Given the description of an element on the screen output the (x, y) to click on. 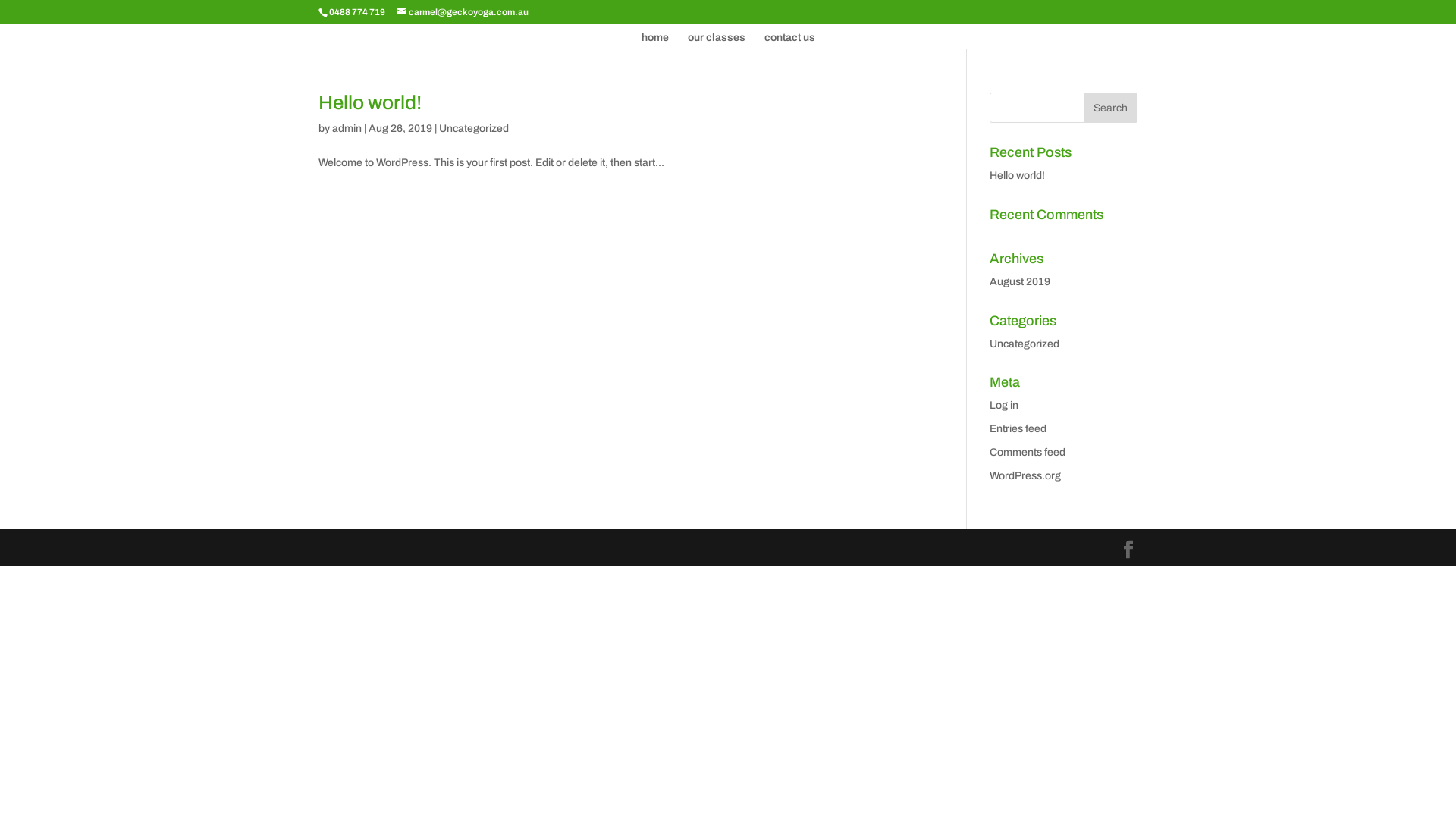
Comments feed Element type: text (1027, 452)
Hello world! Element type: text (369, 101)
our classes Element type: text (715, 40)
Entries feed Element type: text (1017, 428)
Search Element type: text (1110, 107)
contact us Element type: text (789, 40)
Uncategorized Element type: text (1024, 343)
WordPress.org Element type: text (1024, 475)
home Element type: text (654, 40)
admin Element type: text (346, 128)
Hello world! Element type: text (1016, 175)
Log in Element type: text (1003, 405)
August 2019 Element type: text (1019, 281)
carmel@geckoyoga.com.au Element type: text (462, 11)
Uncategorized Element type: text (473, 128)
